Given the description of an element on the screen output the (x, y) to click on. 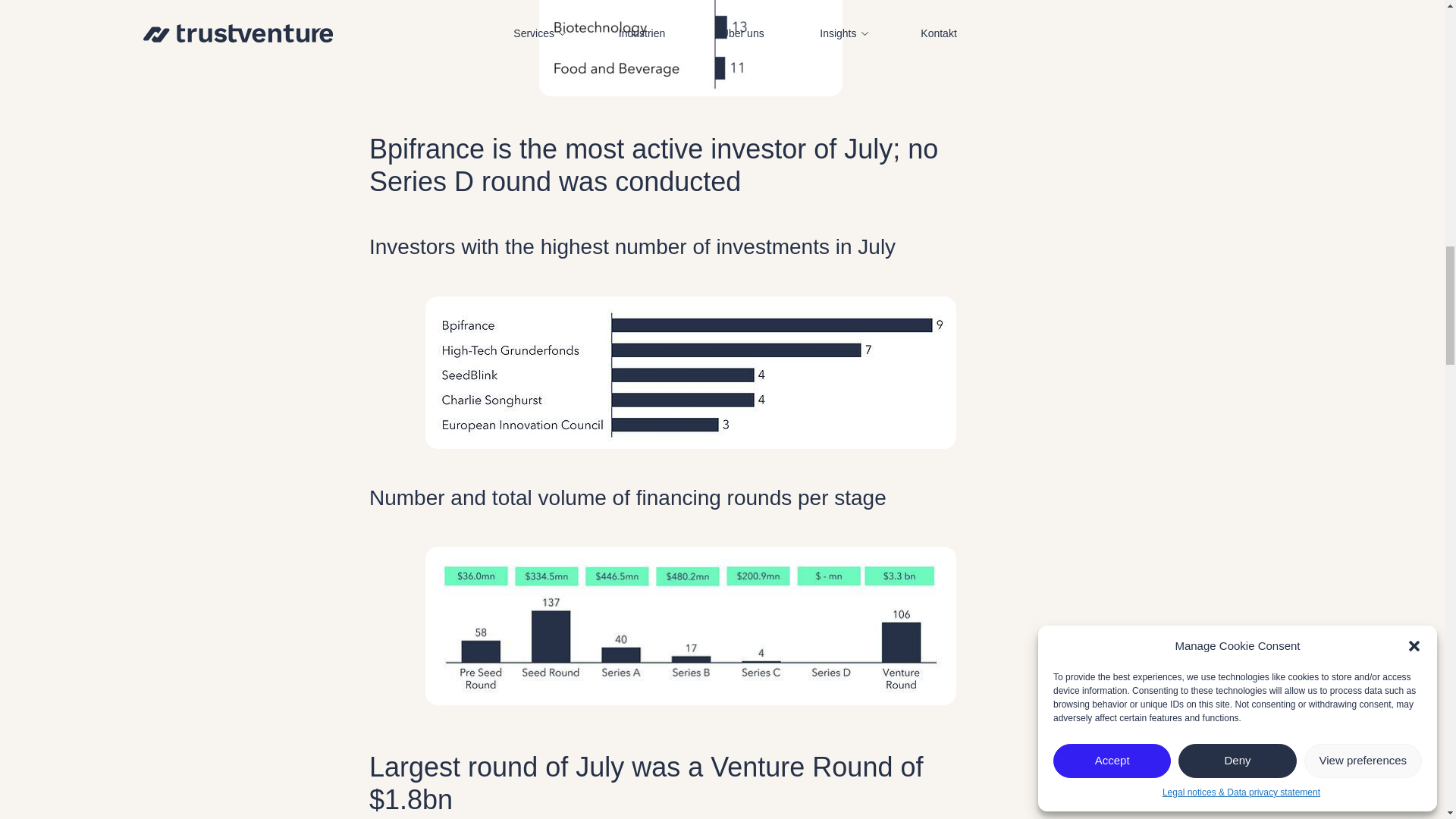
EVCL - July 2023 - 2 (690, 48)
